Given the description of an element on the screen output the (x, y) to click on. 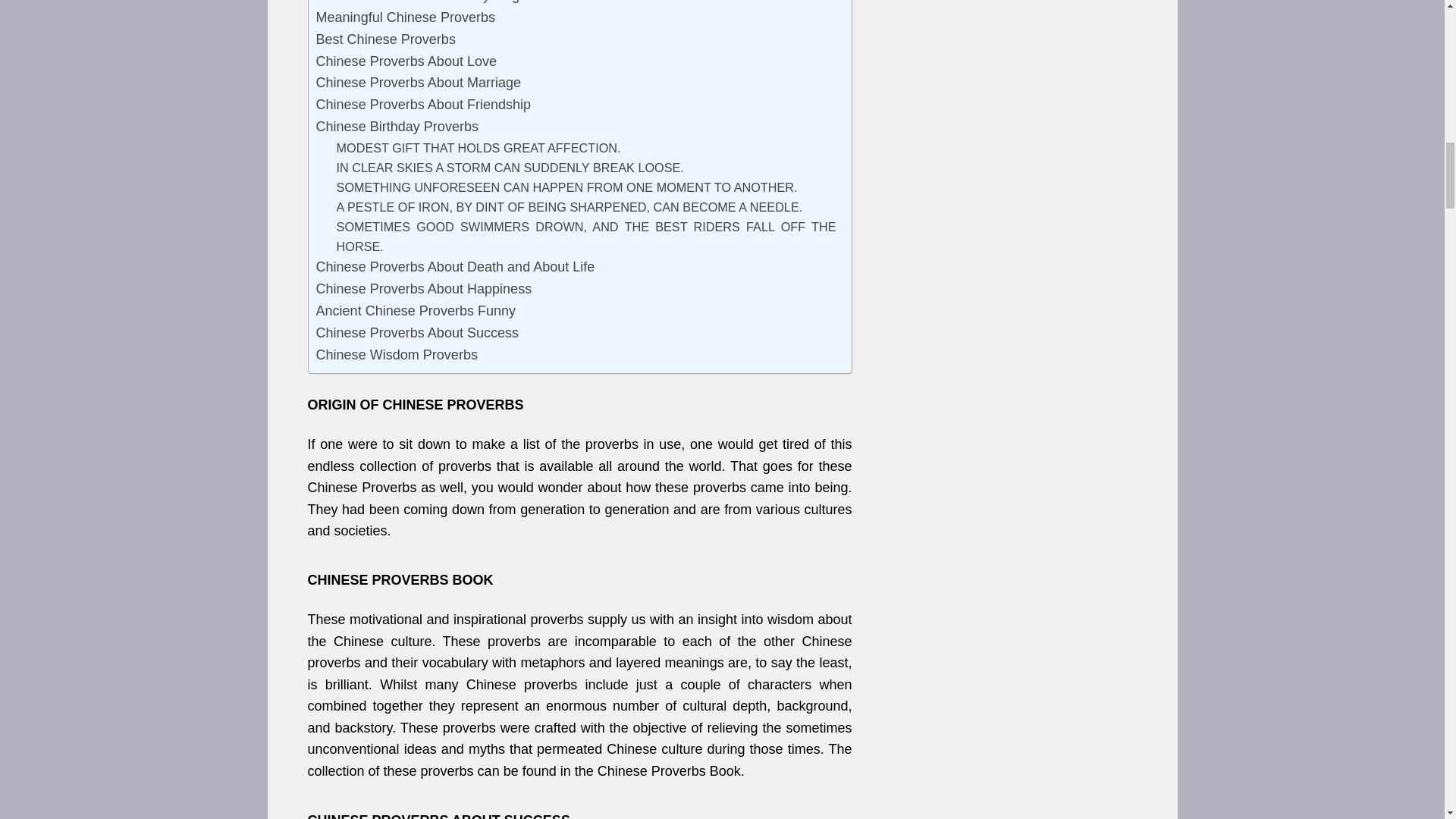
Chinese Wisdom Proverbs (396, 354)
Chinese Proverbs About Death and About Life (454, 267)
Chinese Proverbs About Friendship (423, 105)
Chinese Birthday Proverbs  (398, 127)
Chinese Proverbs About Anything (417, 3)
Chinese Proverbs About Friendship (423, 105)
Chinese Proverbs About Marriage (418, 83)
Chinese Proverbs About Love (405, 61)
Best Chinese Proverbs (384, 39)
Best Chinese Proverbs (384, 39)
MODEST GIFT THAT HOLDS GREAT AFFECTION. (478, 148)
IN CLEAR SKIES A STORM CAN SUDDENLY BREAK LOOSE. (510, 167)
Chinese Proverbs About Marriage (418, 83)
Meaningful Chinese Proverbs (405, 17)
